Given the description of an element on the screen output the (x, y) to click on. 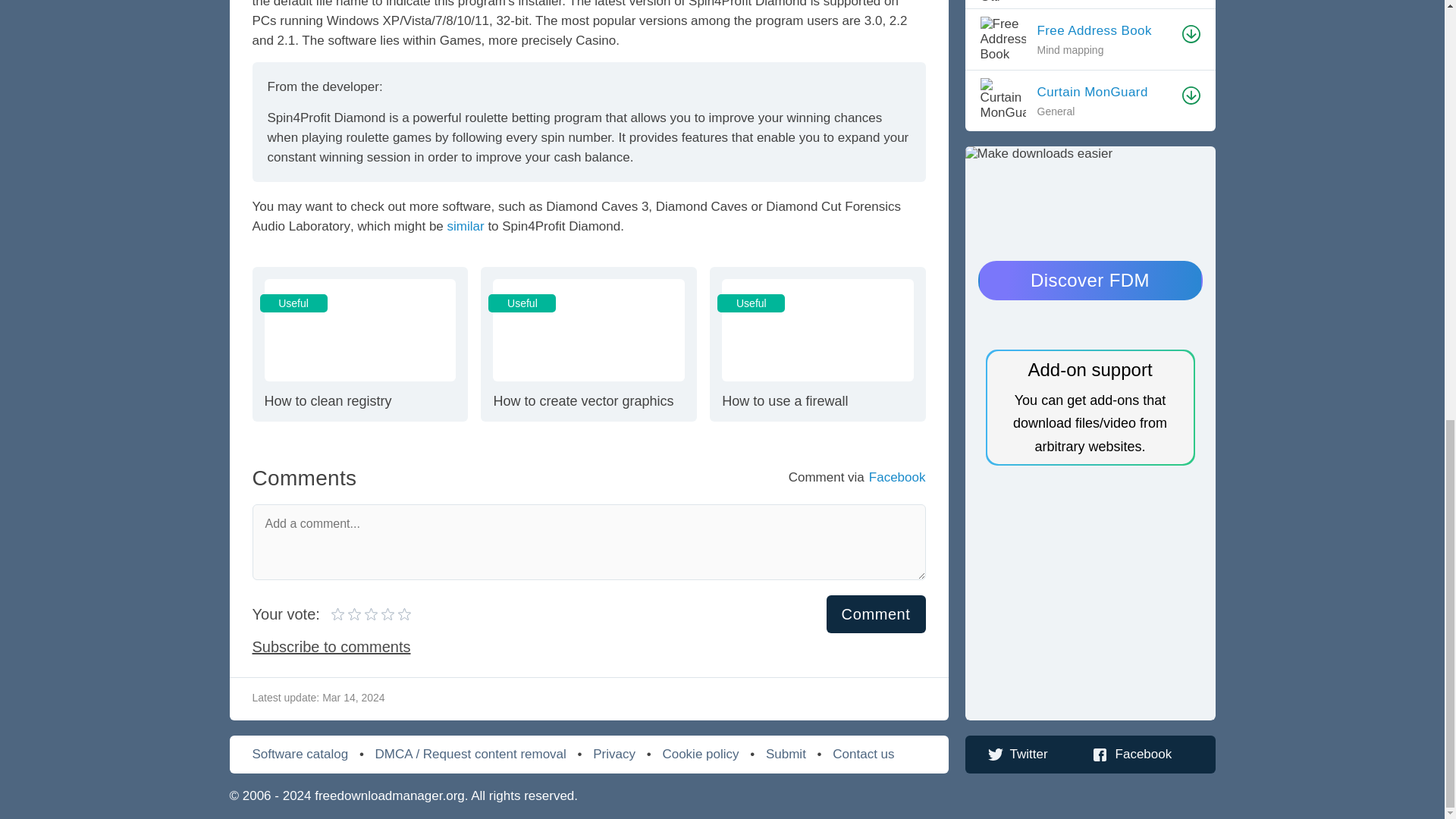
2 (346, 613)
3 (355, 613)
Comment (876, 614)
4 (817, 343)
5 (363, 613)
similar (370, 613)
1 (465, 226)
Comment (338, 613)
